Given the description of an element on the screen output the (x, y) to click on. 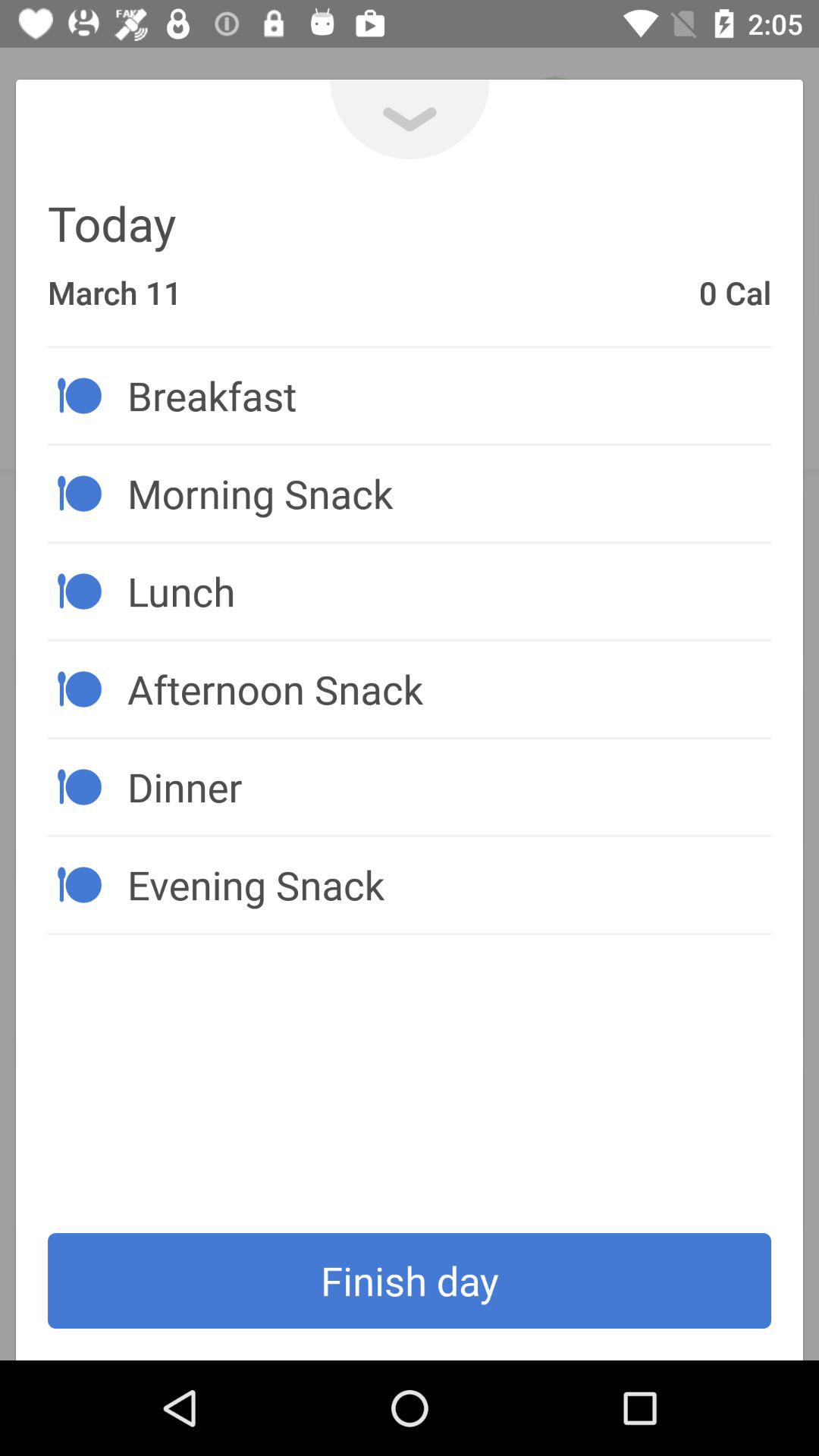
jump until the lunch (449, 590)
